Given the description of an element on the screen output the (x, y) to click on. 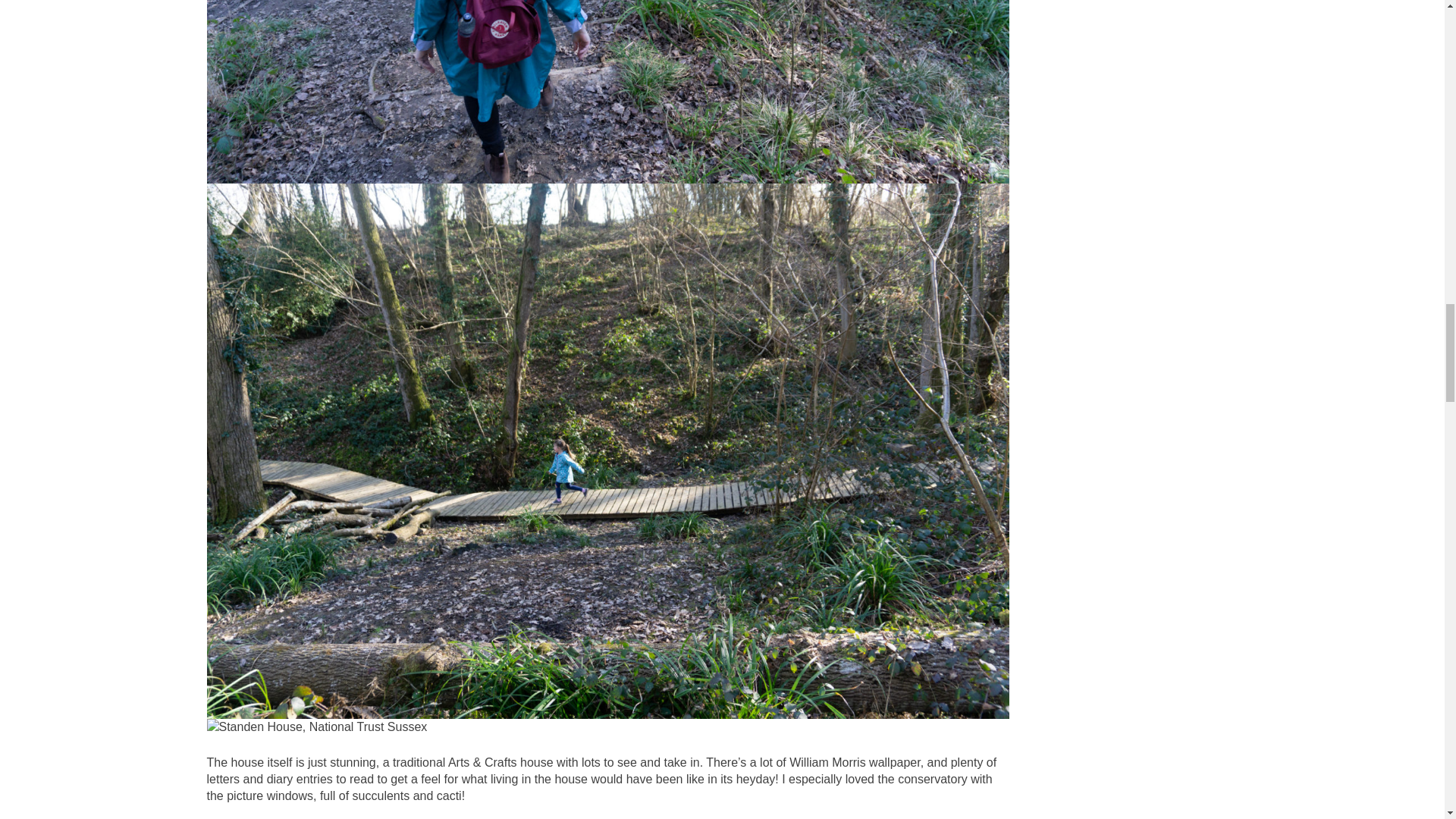
Standen House, National Trust Sussex (316, 727)
